Given the description of an element on the screen output the (x, y) to click on. 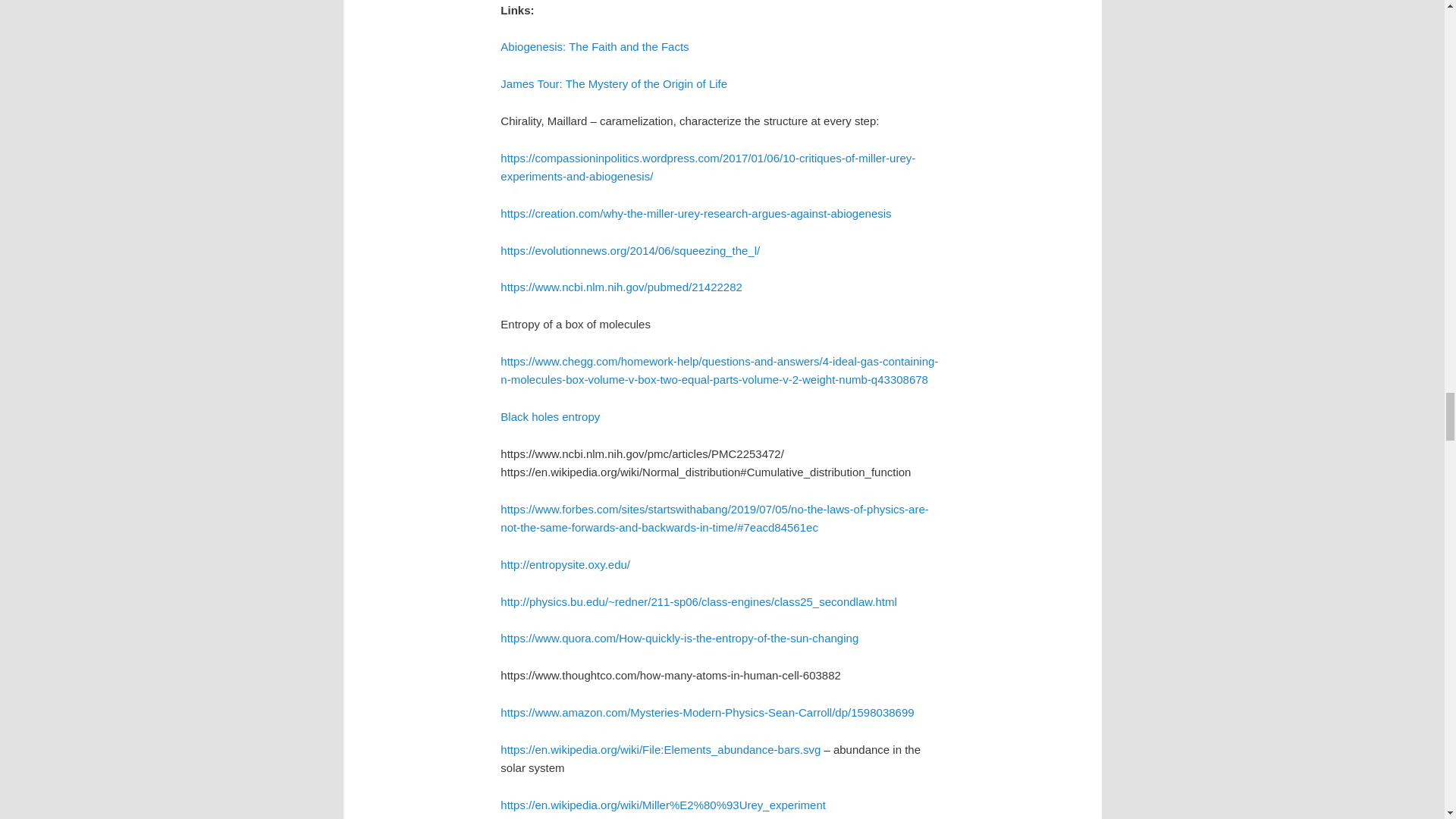
Black holes entropy (549, 416)
Abiogenesis: The Faith and the Facts (594, 46)
James Tour: The Mystery of the Origin of Life (613, 83)
